Given the description of an element on the screen output the (x, y) to click on. 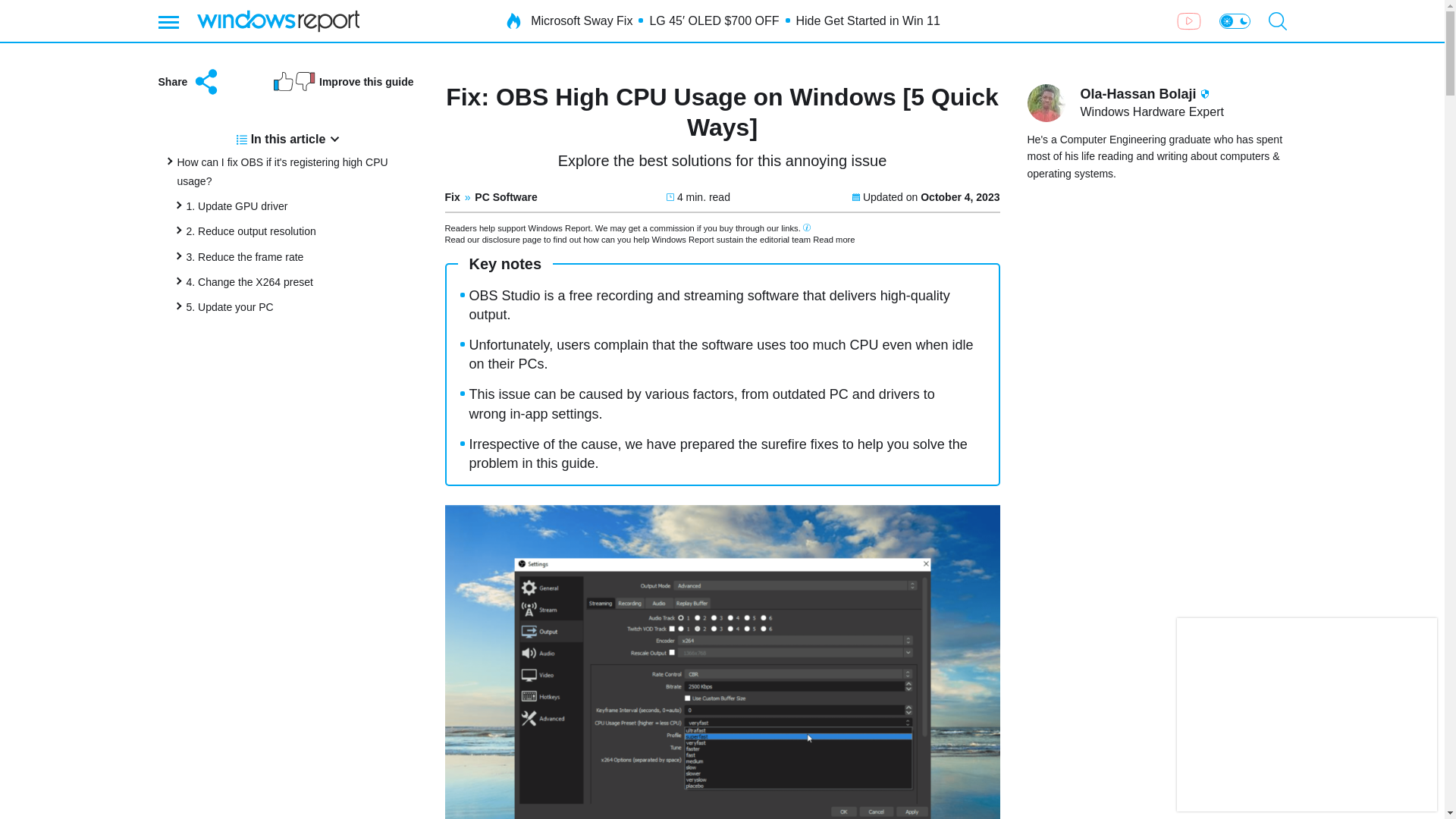
Share this article (189, 81)
offer (1306, 714)
Microsoft Sway Fix (581, 21)
3. Reduce the frame rate (245, 256)
Hide Get Started in Win 11 (868, 21)
Open search bar (1276, 21)
Share (189, 81)
5. Update your PC (229, 306)
How can I fix OBS if it's registering high CPU usage? (282, 171)
1. Update GPU driver (237, 205)
4. Change the X264 preset (249, 282)
2. Reduce output resolution (250, 231)
